Given the description of an element on the screen output the (x, y) to click on. 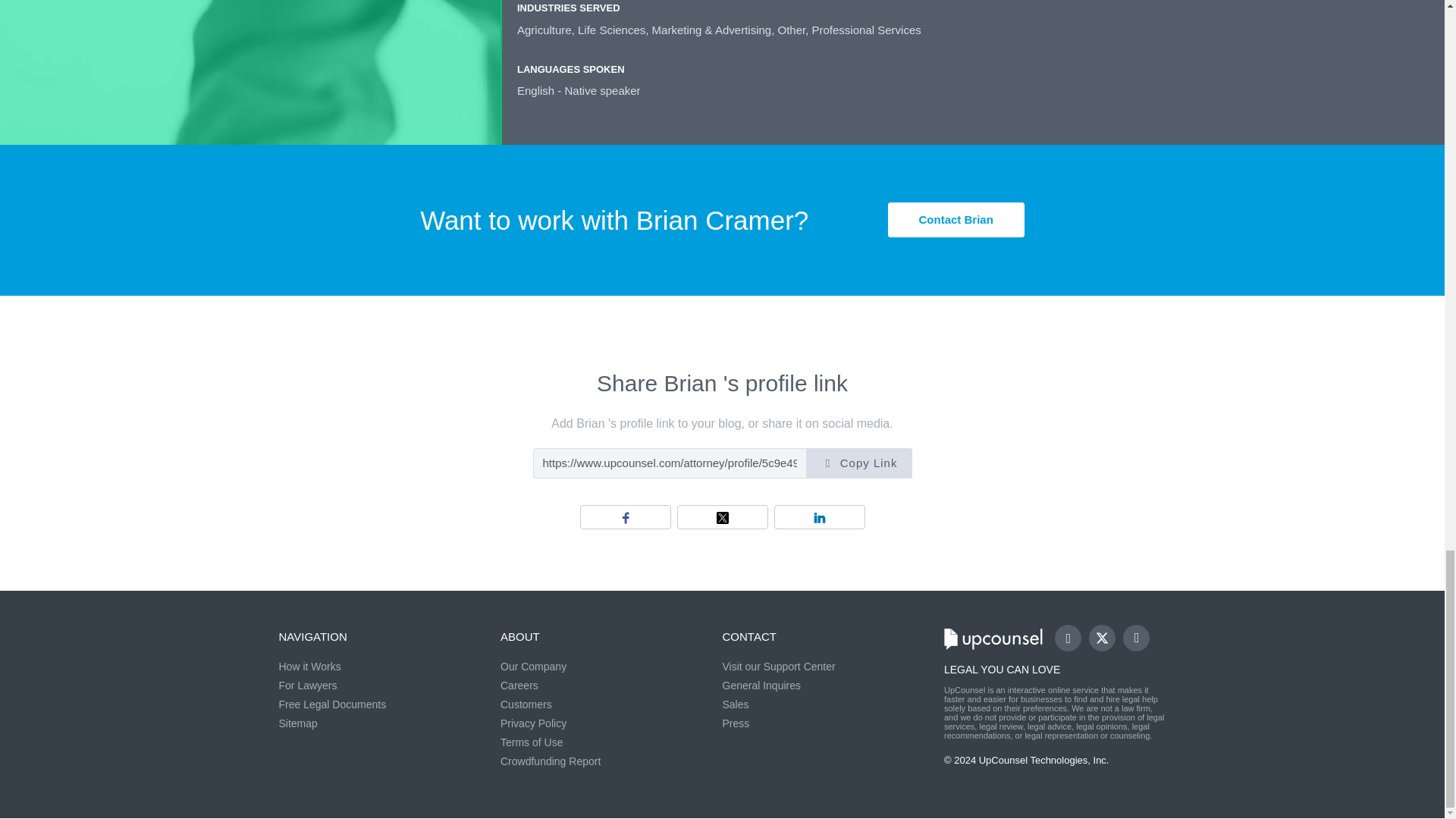
Connect with us on LinkedIn (1136, 637)
Like us on Facebook (1067, 637)
Sitemap (298, 723)
Follow us on Twitter (1109, 643)
Copy Link (858, 462)
